Given the description of an element on the screen output the (x, y) to click on. 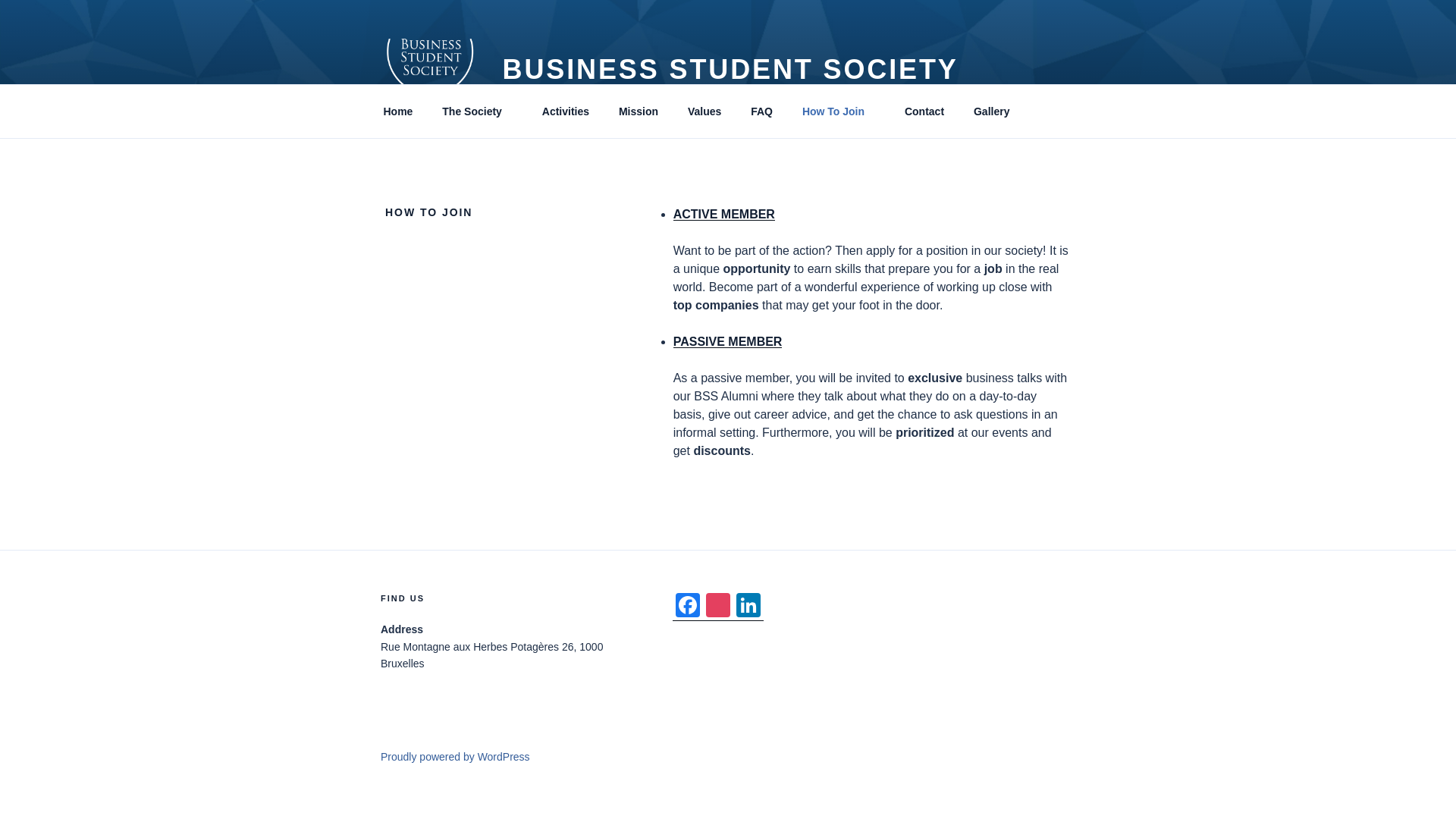
Proudly powered by WordPress (454, 756)
Facebook (687, 606)
How To Join (838, 110)
BUSINESS STUDENT SOCIETY (730, 69)
Facebook (687, 606)
Instagram (718, 606)
LinkedIn (747, 606)
The Society (477, 110)
Gallery (990, 110)
